Given the description of an element on the screen output the (x, y) to click on. 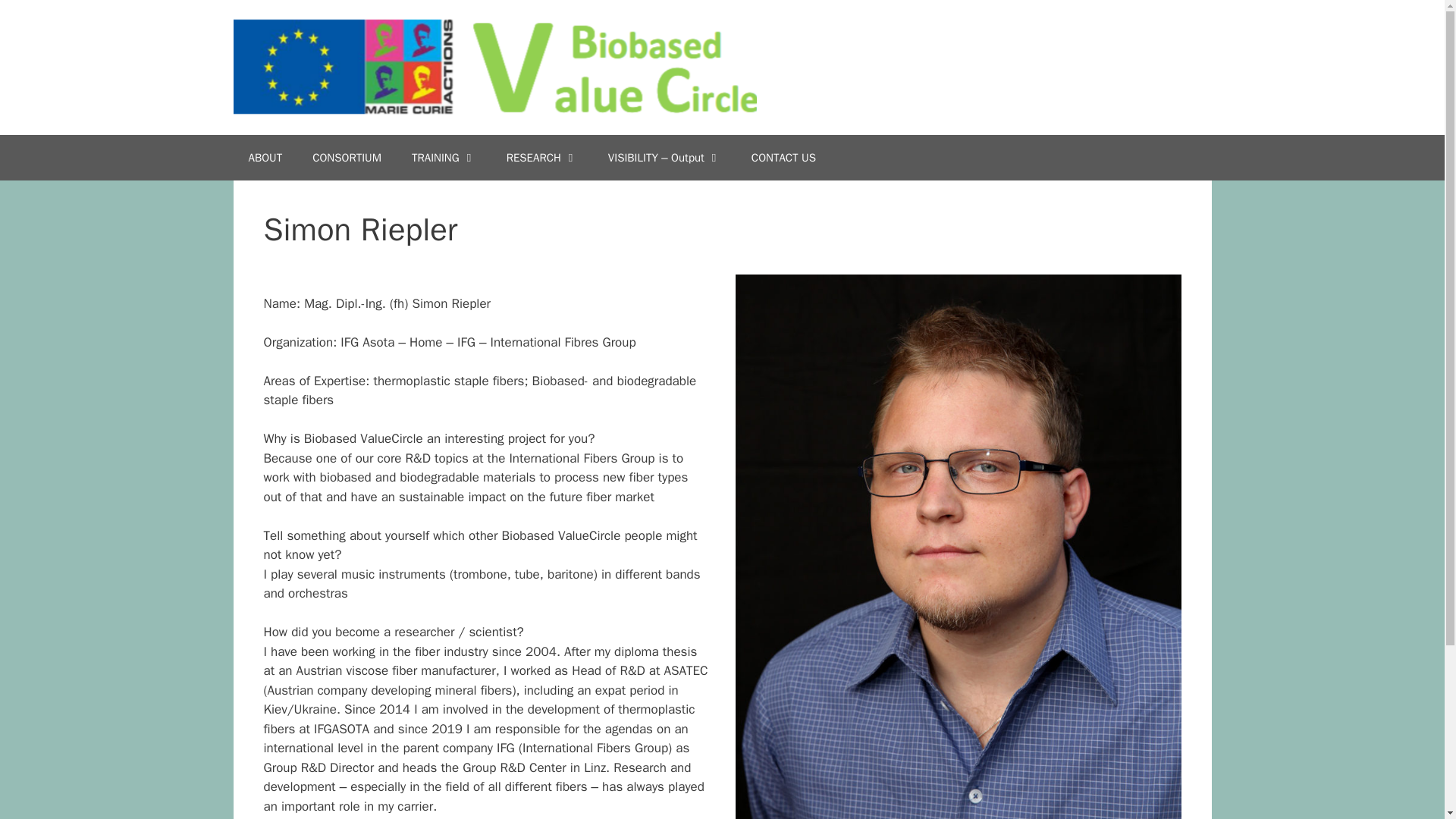
ABOUT (265, 157)
CONSORTIUM (346, 157)
CONTACT US (783, 157)
TRAINING (444, 157)
RESEARCH (542, 157)
